Given the description of an element on the screen output the (x, y) to click on. 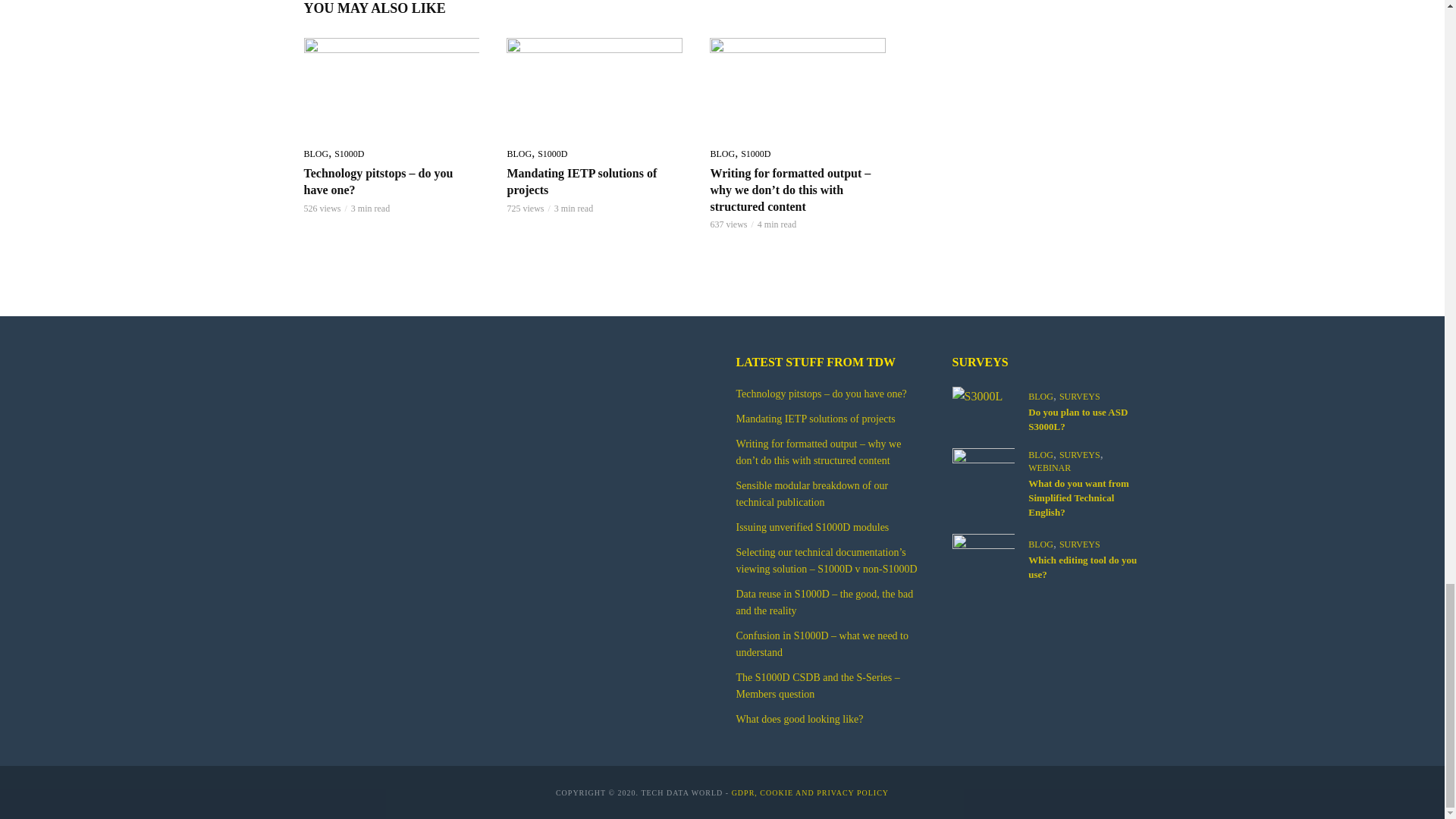
What do you want from Simplified Technical English? (983, 468)
Mandating IETP solutions of projects (594, 86)
Which editing tool do you use? (983, 554)
Do you plan to use ASD S3000L? (983, 395)
